Given the description of an element on the screen output the (x, y) to click on. 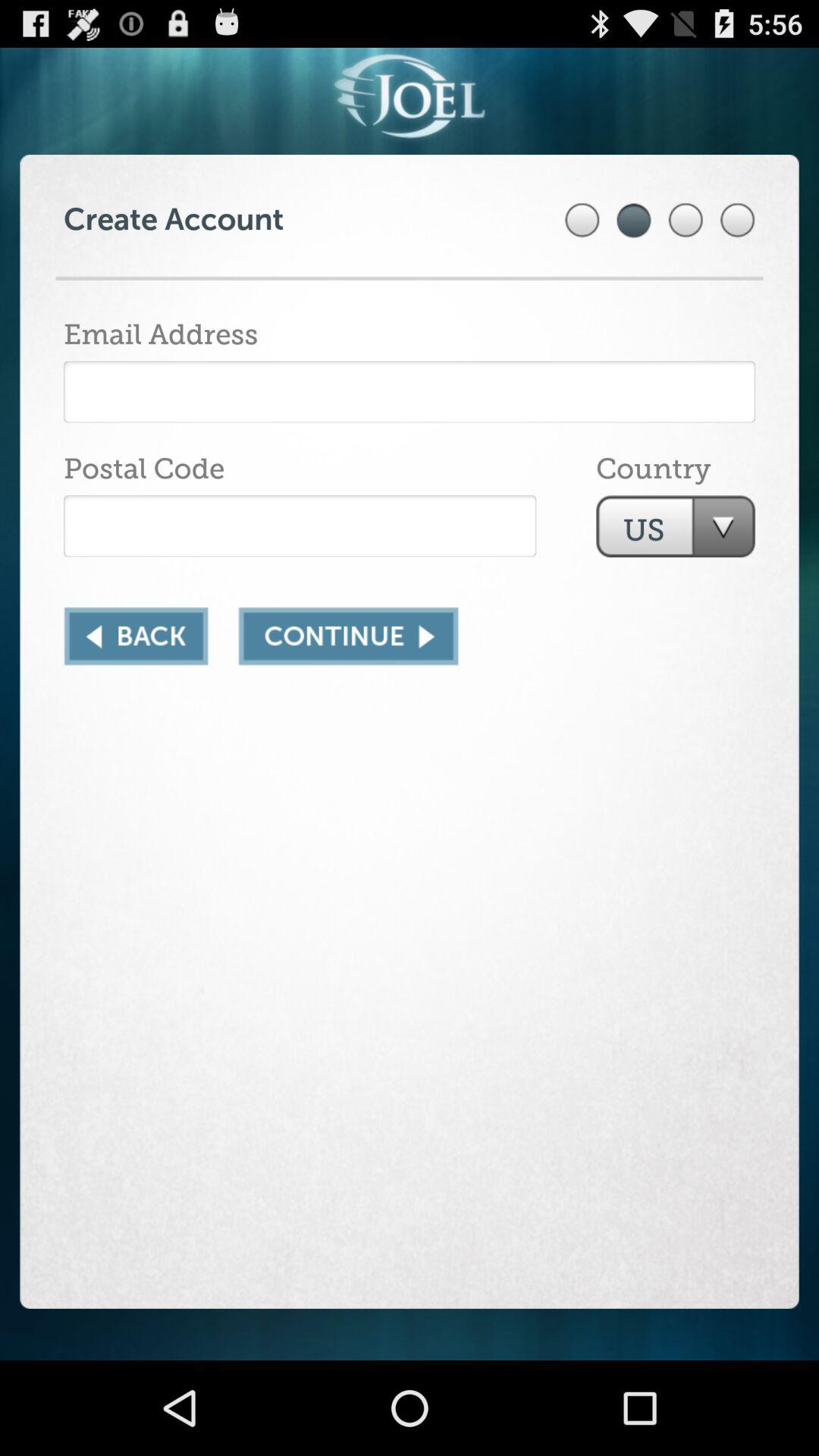
enter your email (409, 391)
